Given the description of an element on the screen output the (x, y) to click on. 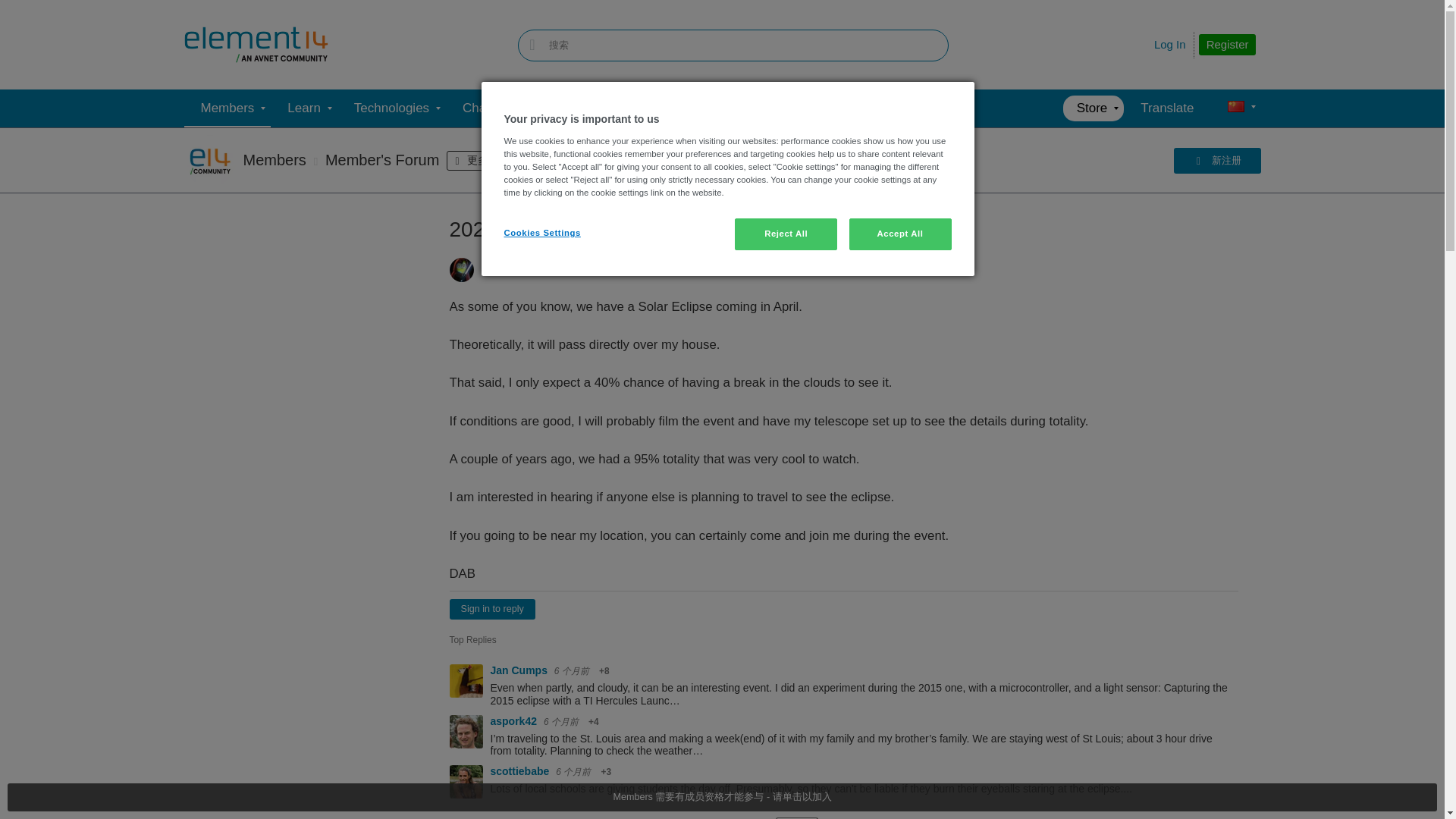
Register (1226, 44)
Log In (1170, 44)
Members (226, 108)
Learn (303, 108)
Technologies (391, 108)
Log In (1170, 44)
Register (1226, 44)
